Given the description of an element on the screen output the (x, y) to click on. 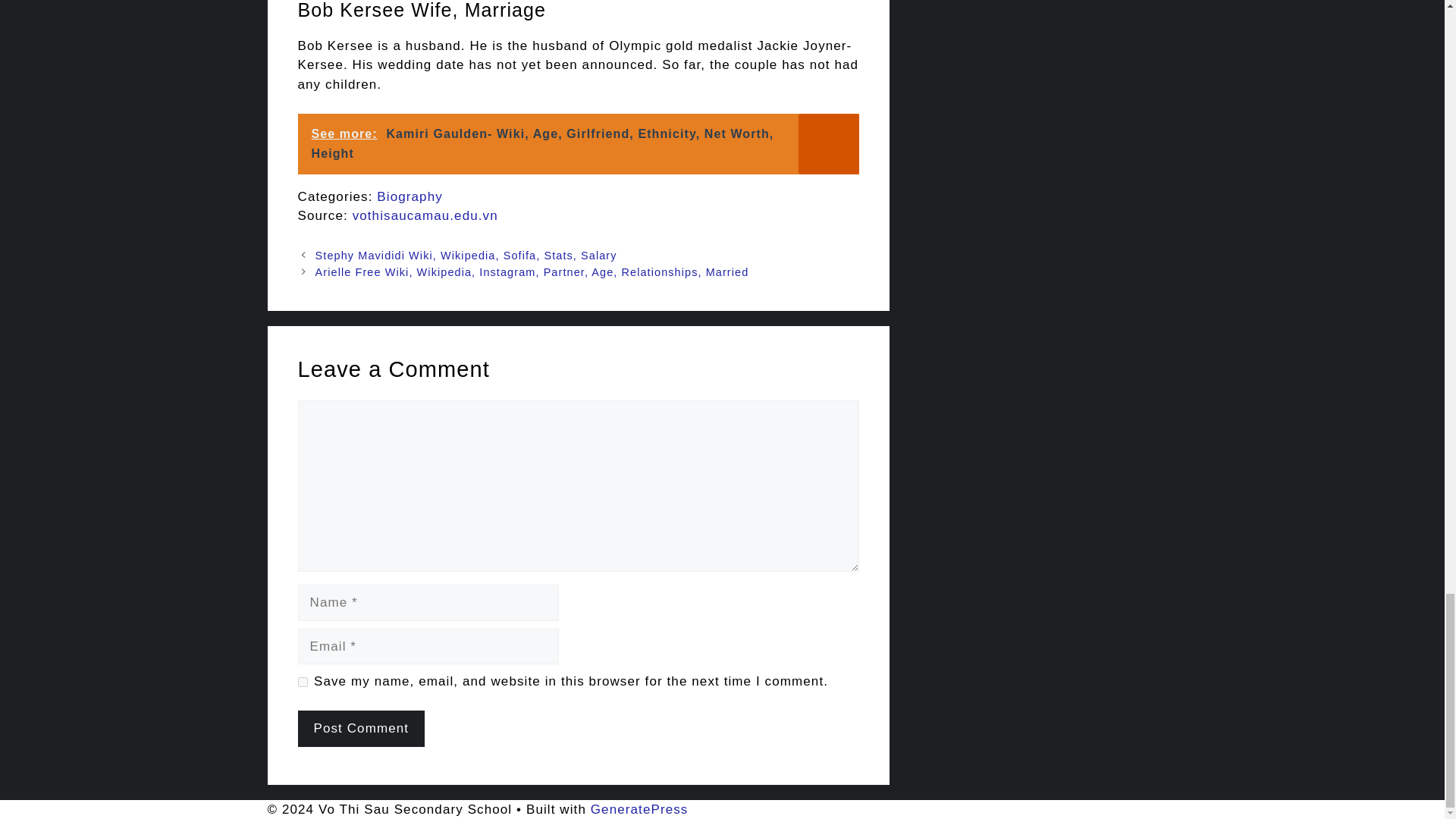
vothisaucamau.edu.vn (424, 215)
Stephy Mavididi Wiki, Wikipedia, Sofifa, Stats, Salary (466, 255)
Biography (409, 196)
Post Comment (361, 728)
yes (302, 682)
Post Comment (361, 728)
GeneratePress (639, 809)
